Given the description of an element on the screen output the (x, y) to click on. 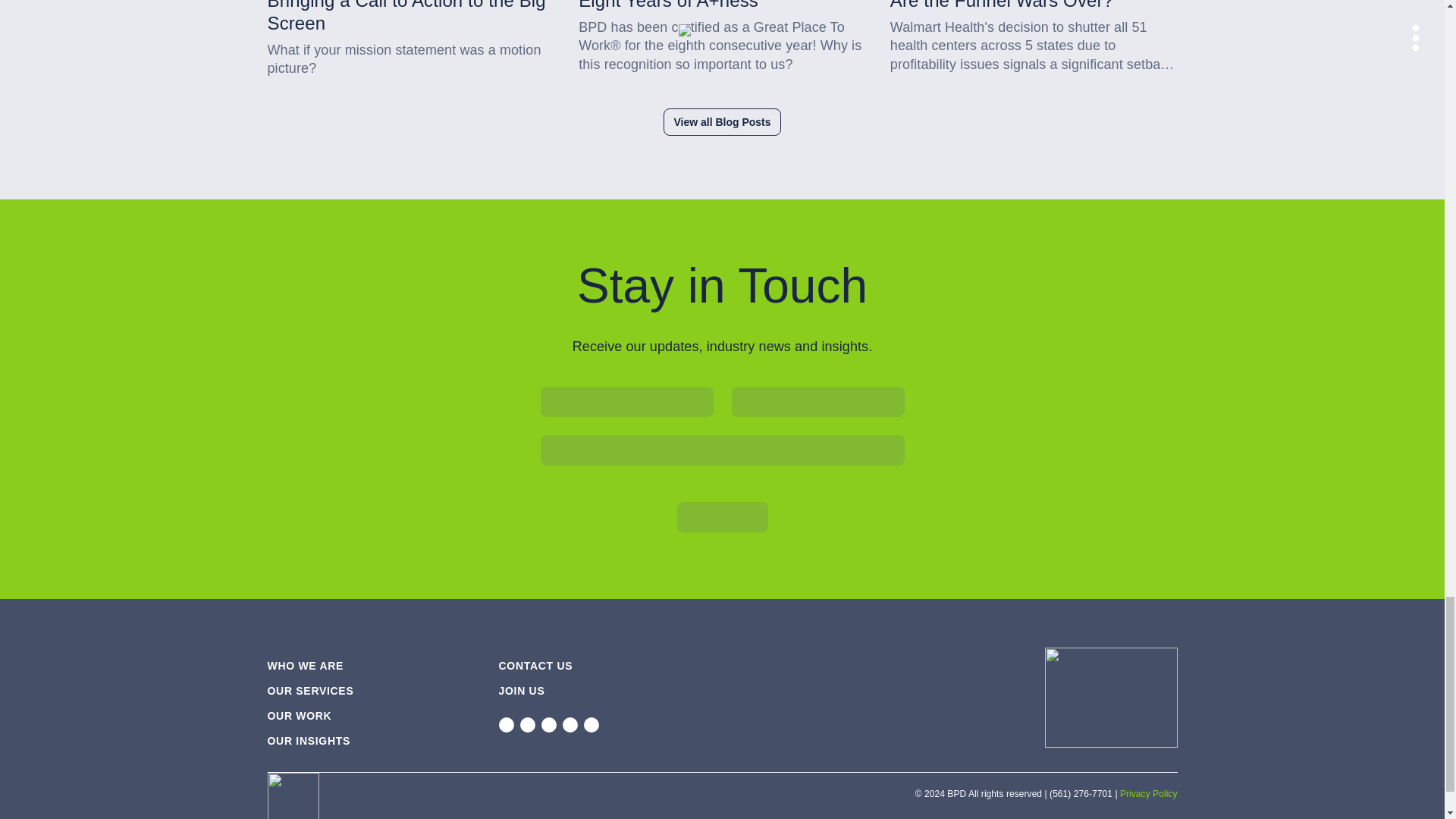
Are the Funnel Wars Over? (1033, 6)
OUR INSIGHTS (308, 740)
WHO WE ARE (304, 665)
View all Blog Posts (721, 121)
CONTACT US (536, 665)
OUR WORK (298, 715)
JOIN US (521, 690)
Bringing a Call to Action to the Big Screen (410, 17)
OUR SERVICES (309, 690)
What if your mission statement was a motion picture? (410, 59)
